Given the description of an element on the screen output the (x, y) to click on. 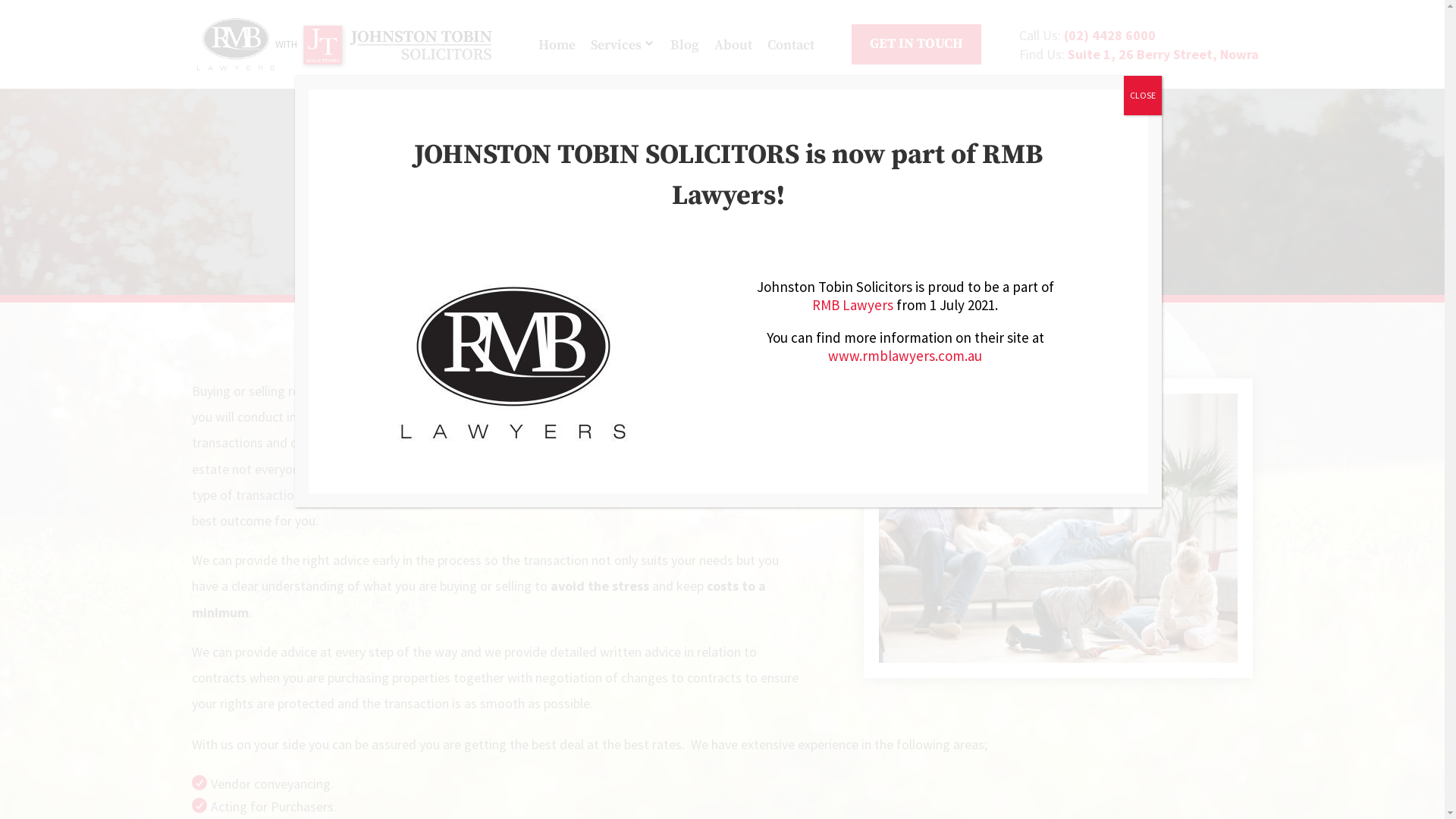
Home Element type: text (556, 44)
Services Element type: text (615, 44)
WITH Element type: text (348, 44)
RMB Lawyers logo Element type: hover (513, 362)
Contact Element type: text (790, 44)
About Element type: text (733, 44)
Blog Element type: text (684, 44)
www.rmblawyers.com.au Element type: text (905, 355)
(02) 4428 6000 Element type: text (1109, 34)
GET IN TOUCH Element type: text (916, 44)
RMB Lawyers Element type: text (852, 304)
CLOSE Element type: text (1142, 95)
